Given the description of an element on the screen output the (x, y) to click on. 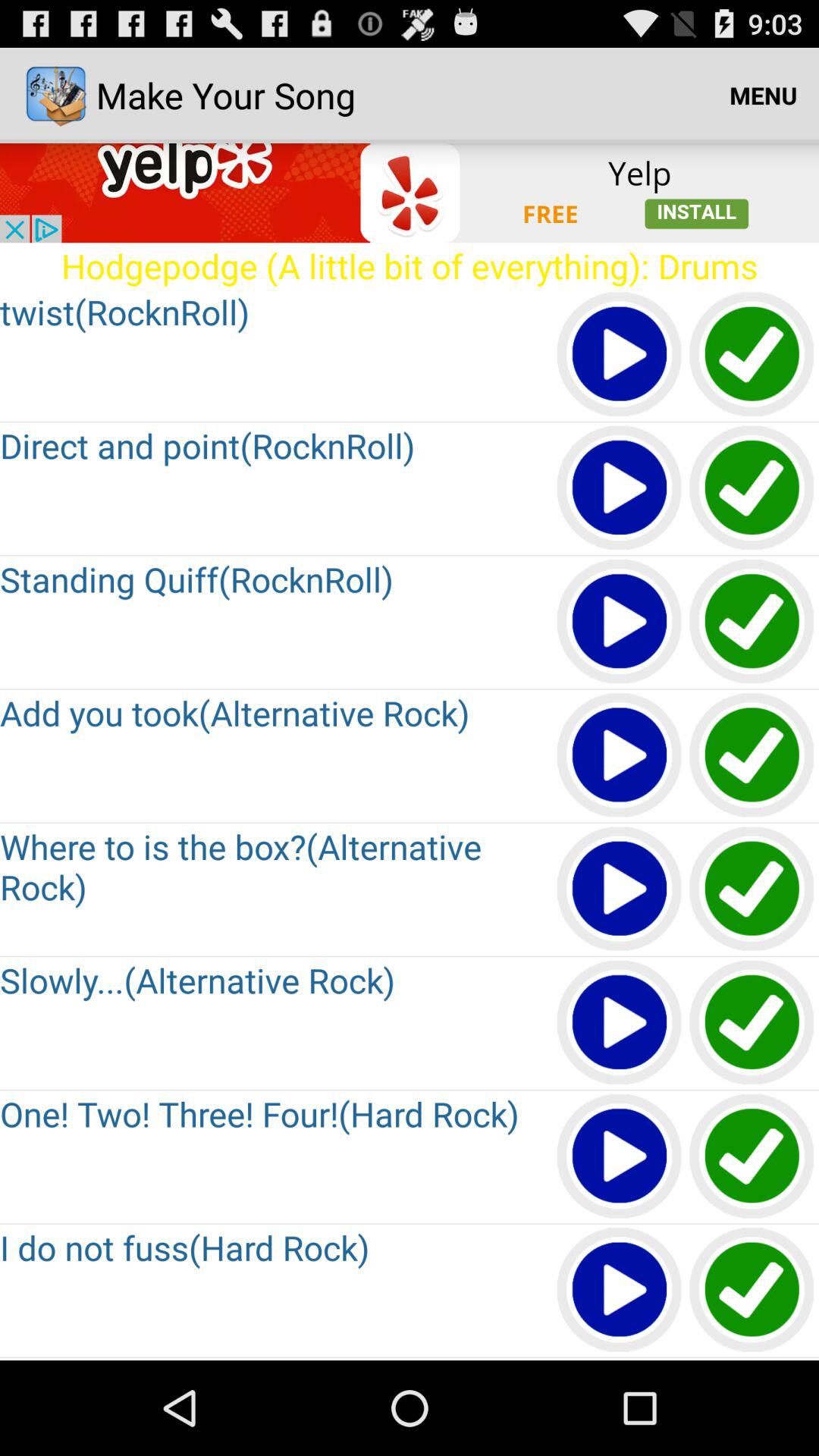
install song (752, 1023)
